Given the description of an element on the screen output the (x, y) to click on. 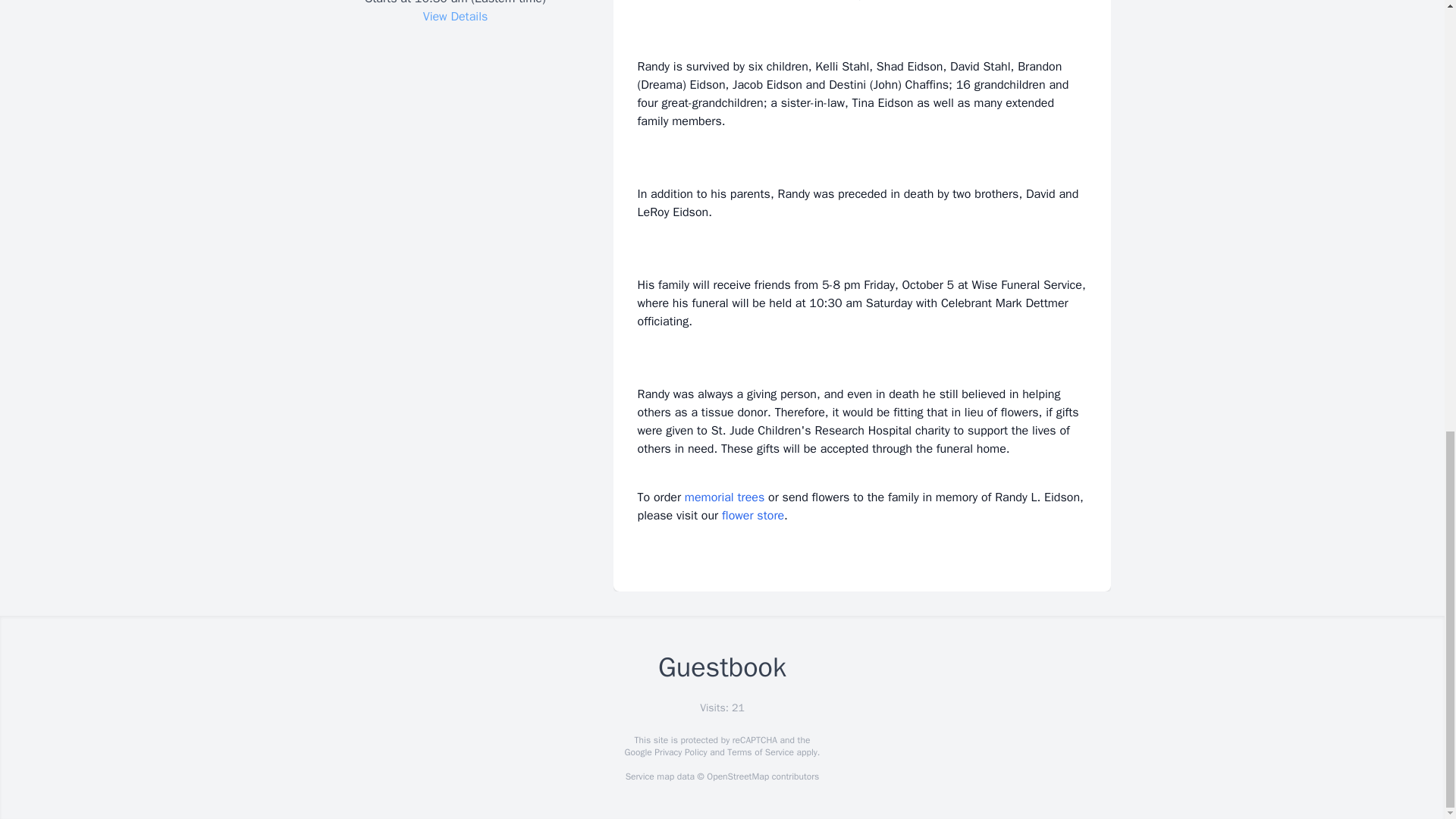
OpenStreetMap (737, 776)
memorial trees (724, 497)
Terms of Service (759, 752)
Privacy Policy (679, 752)
View Details (455, 16)
flower store (753, 515)
